Given the description of an element on the screen output the (x, y) to click on. 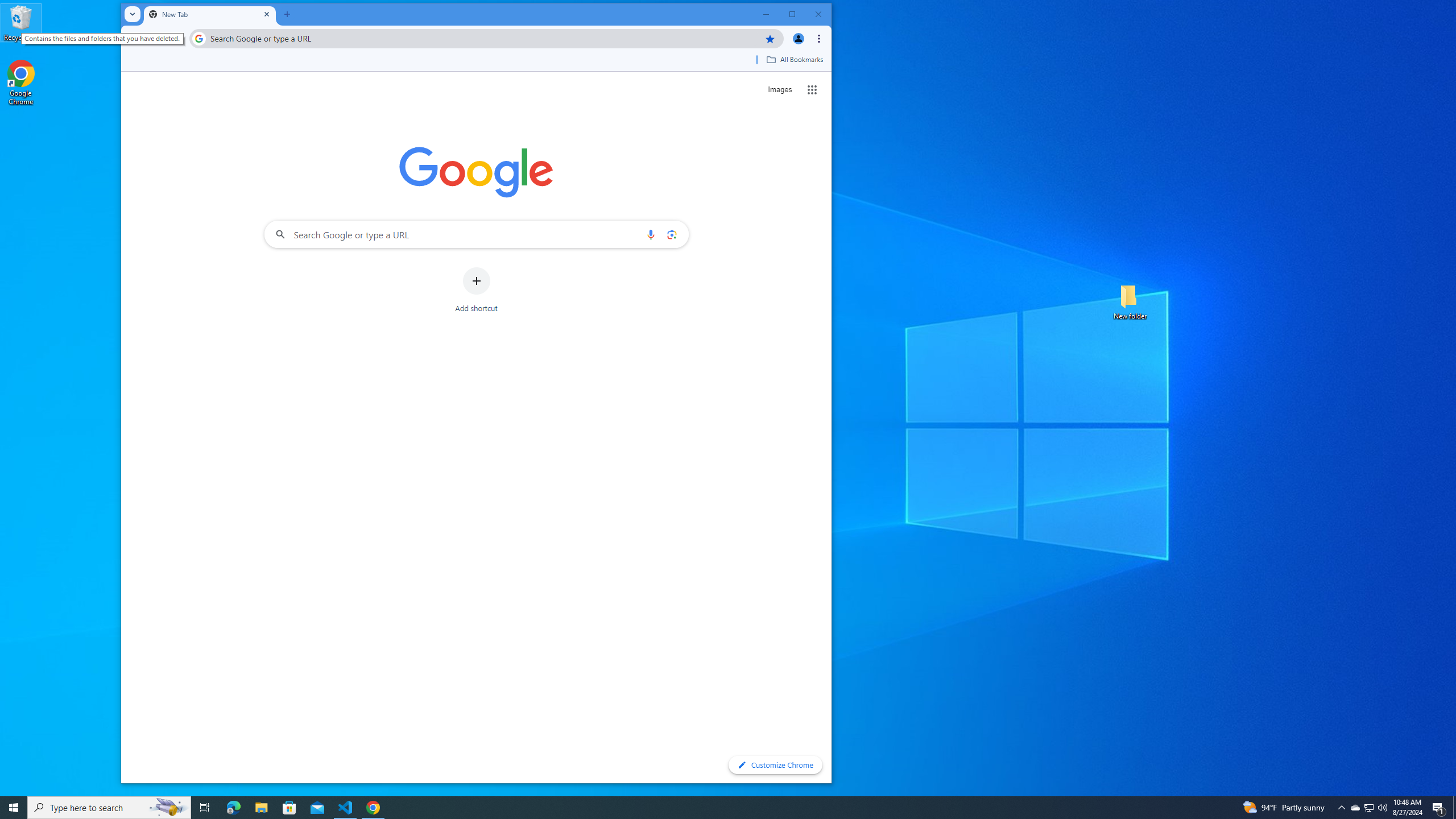
New folder (1130, 301)
Recycle Bin (21, 22)
Google Chrome (21, 82)
